Given the description of an element on the screen output the (x, y) to click on. 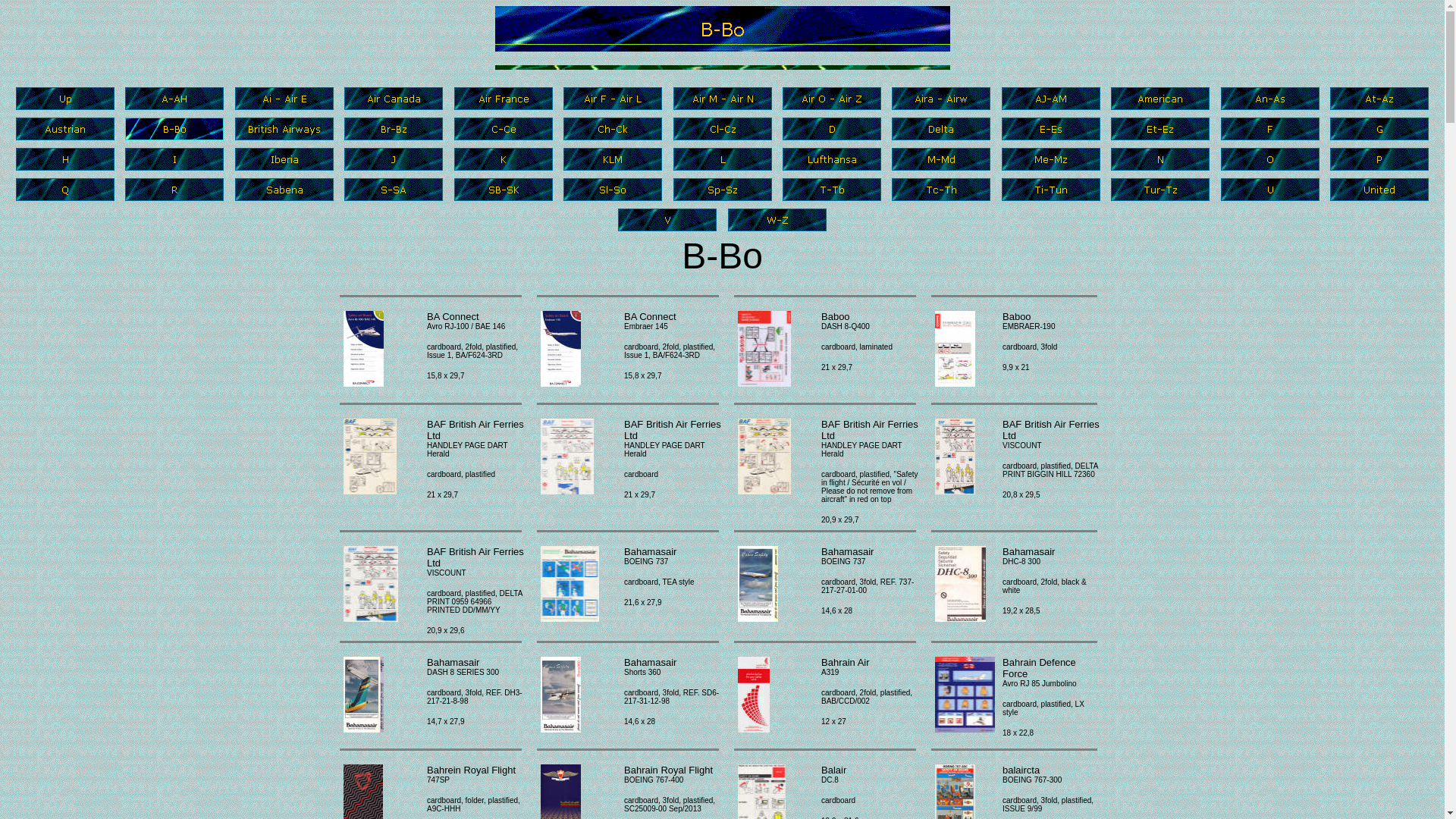
Bahamasair Element type: hover (757, 583)
Bahamasair Element type: hover (560, 694)
BAF British Air Ferries Ltd Element type: hover (369, 456)
Bahrain Air Element type: hover (753, 694)
Baboo Element type: hover (955, 348)
Bahamasair Element type: hover (363, 694)
BAF British Air Ferries Ltd Element type: hover (370, 583)
BA Connect Element type: hover (363, 348)
Bahrain Defence Force Element type: hover (964, 694)
Baboo Element type: hover (763, 348)
Bahamasair Element type: hover (960, 583)
BAF British Air Ferries Ltd Element type: hover (763, 456)
BAF British Air Ferries Ltd Element type: hover (955, 456)
Bahamasair Element type: hover (569, 583)
BA Connect Element type: hover (560, 348)
BAF British Air Ferries Ltd Element type: hover (566, 456)
